Given the description of an element on the screen output the (x, y) to click on. 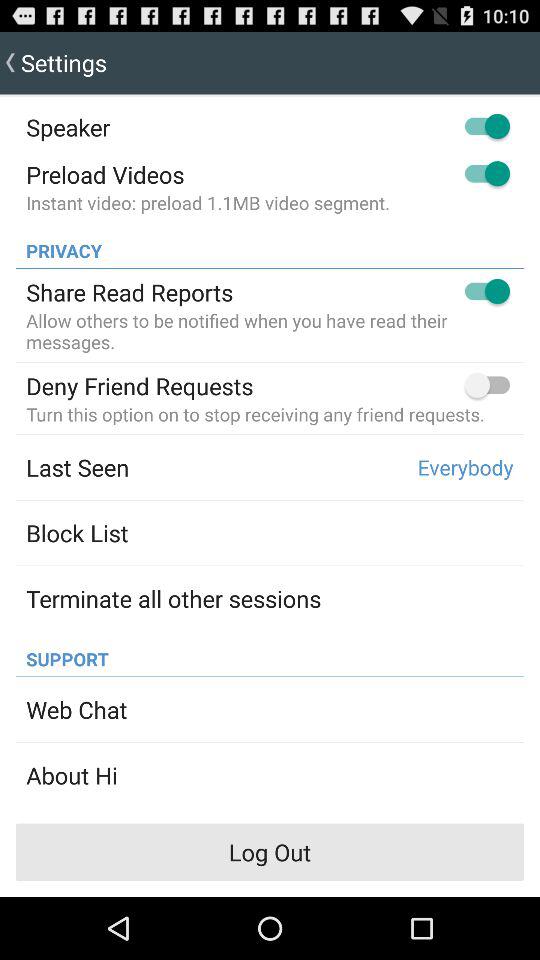
tap the app below the terminate all other icon (61, 653)
